Given the description of an element on the screen output the (x, y) to click on. 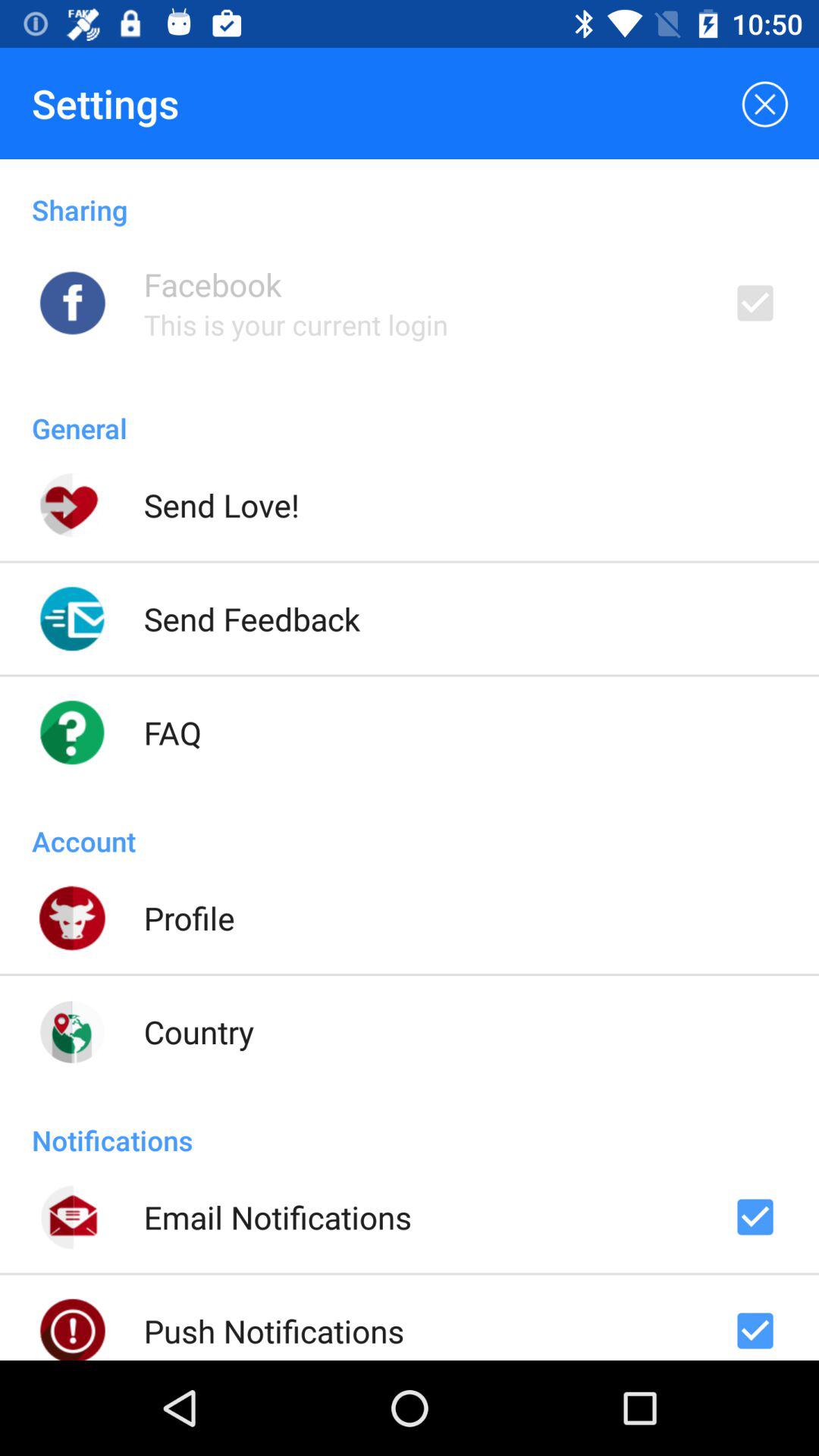
click icon below the send love! item (251, 618)
